Given the description of an element on the screen output the (x, y) to click on. 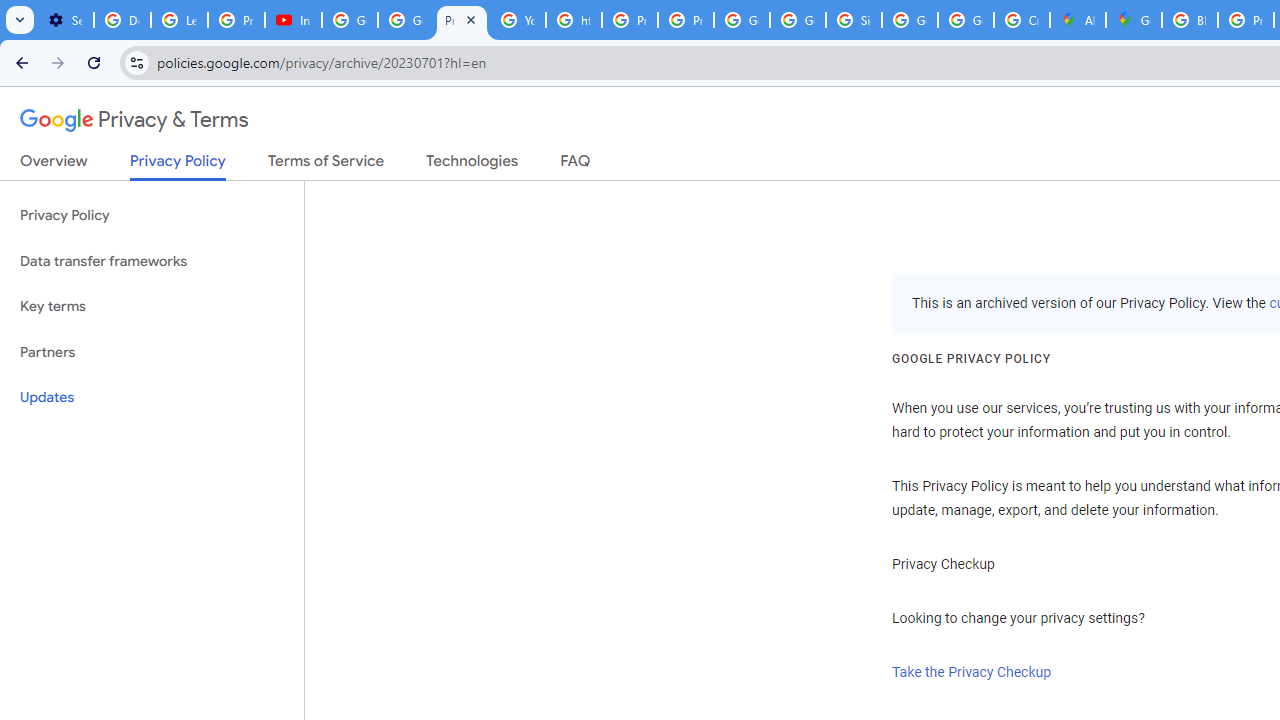
Introduction | Google Privacy Policy - YouTube (293, 20)
Google Maps (1133, 20)
Google Account Help (405, 20)
Partners (152, 352)
Sign in - Google Accounts (853, 20)
Key terms (152, 306)
Create your Google Account (1021, 20)
